Given the description of an element on the screen output the (x, y) to click on. 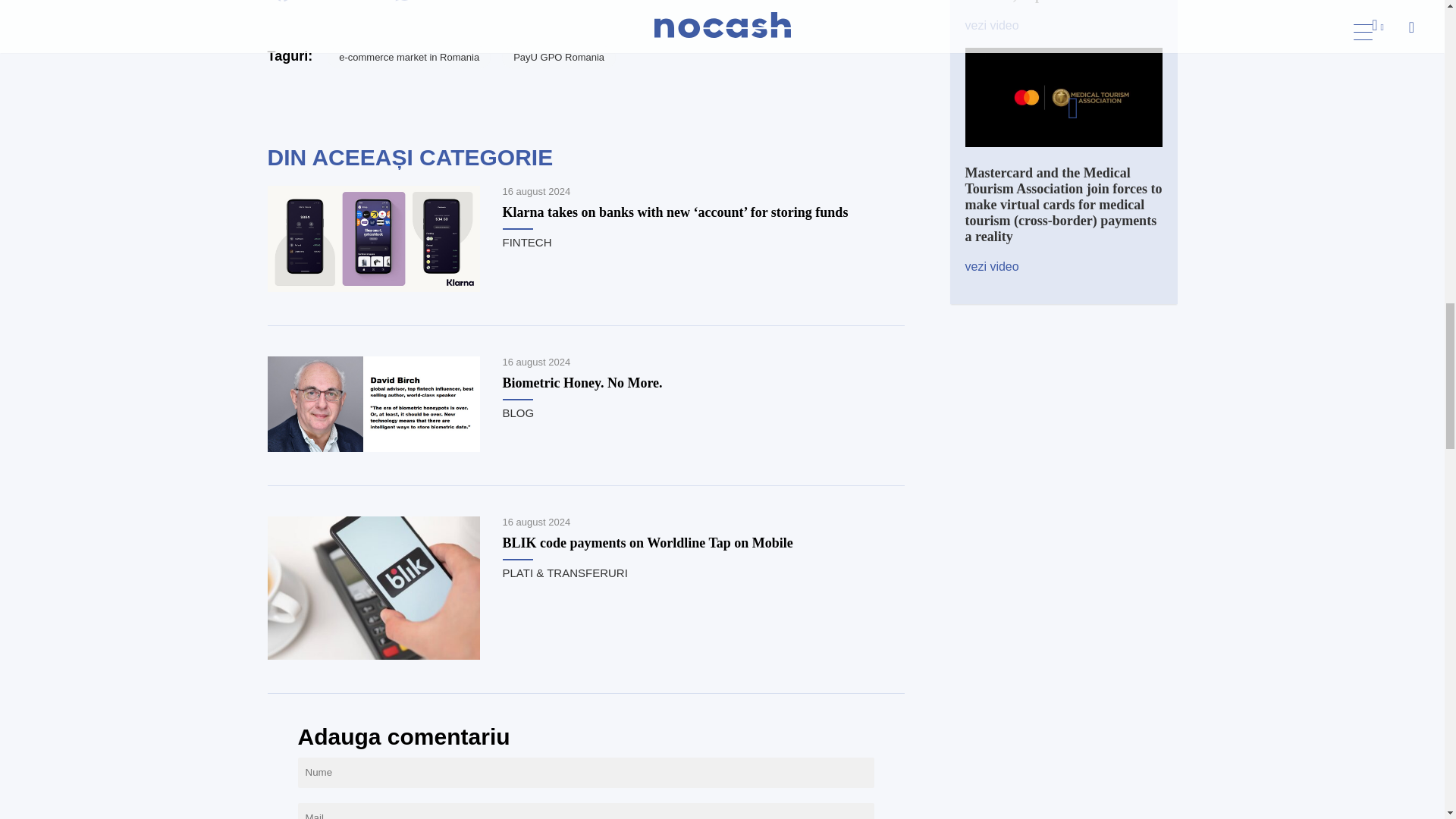
Twitter (312, 4)
Permanent Link to Biometric Honey. No More. (372, 447)
WhatsApp (403, 4)
LinkedIn (373, 4)
Facebook (281, 4)
Email (342, 4)
Permanent Link to Biometric Honey. No More. (582, 382)
